Given the description of an element on the screen output the (x, y) to click on. 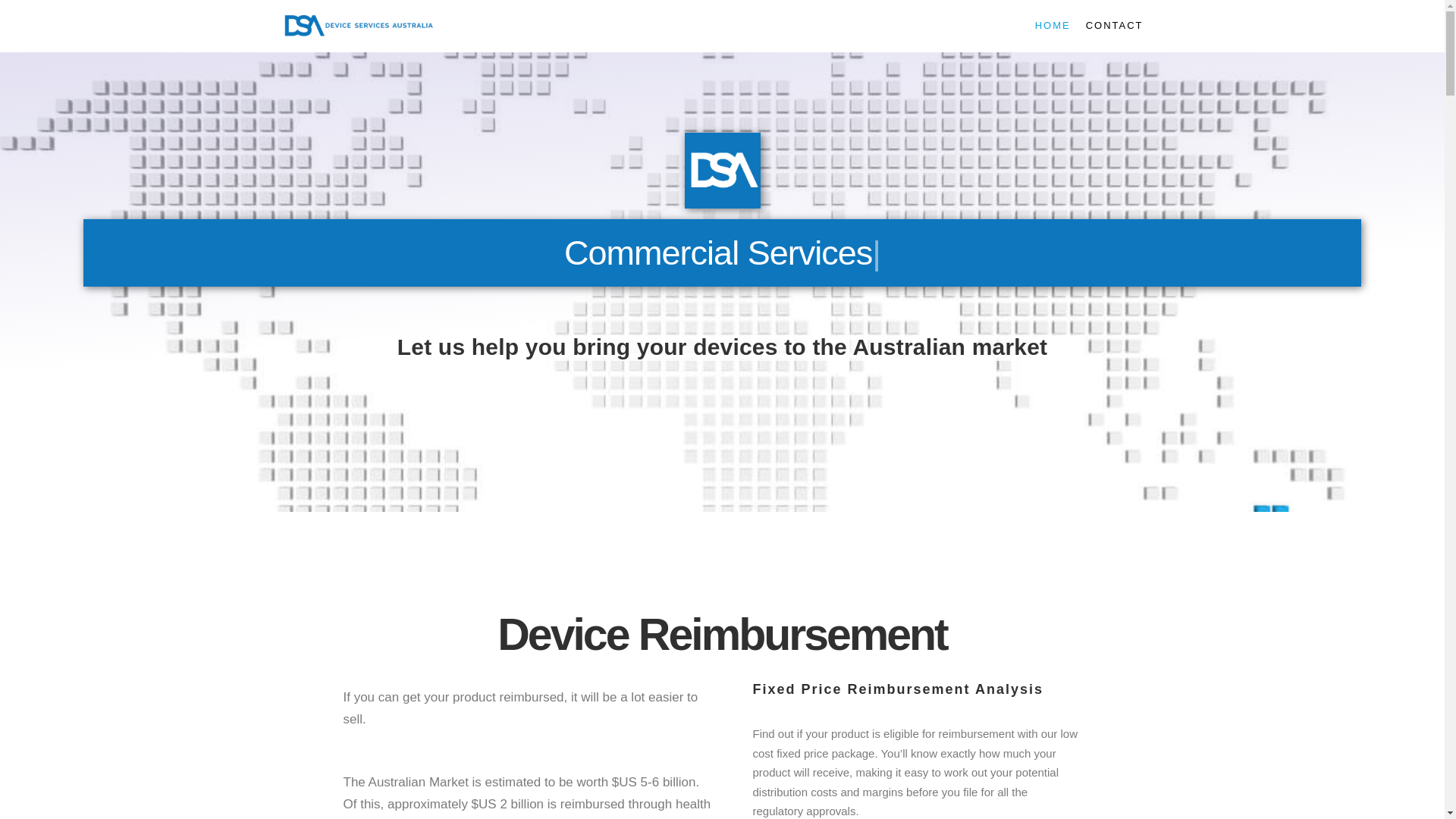
CONTACT Element type: text (1114, 25)
HOME Element type: text (1052, 25)
Device Services Australia Element type: hover (357, 26)
